Given the description of an element on the screen output the (x, y) to click on. 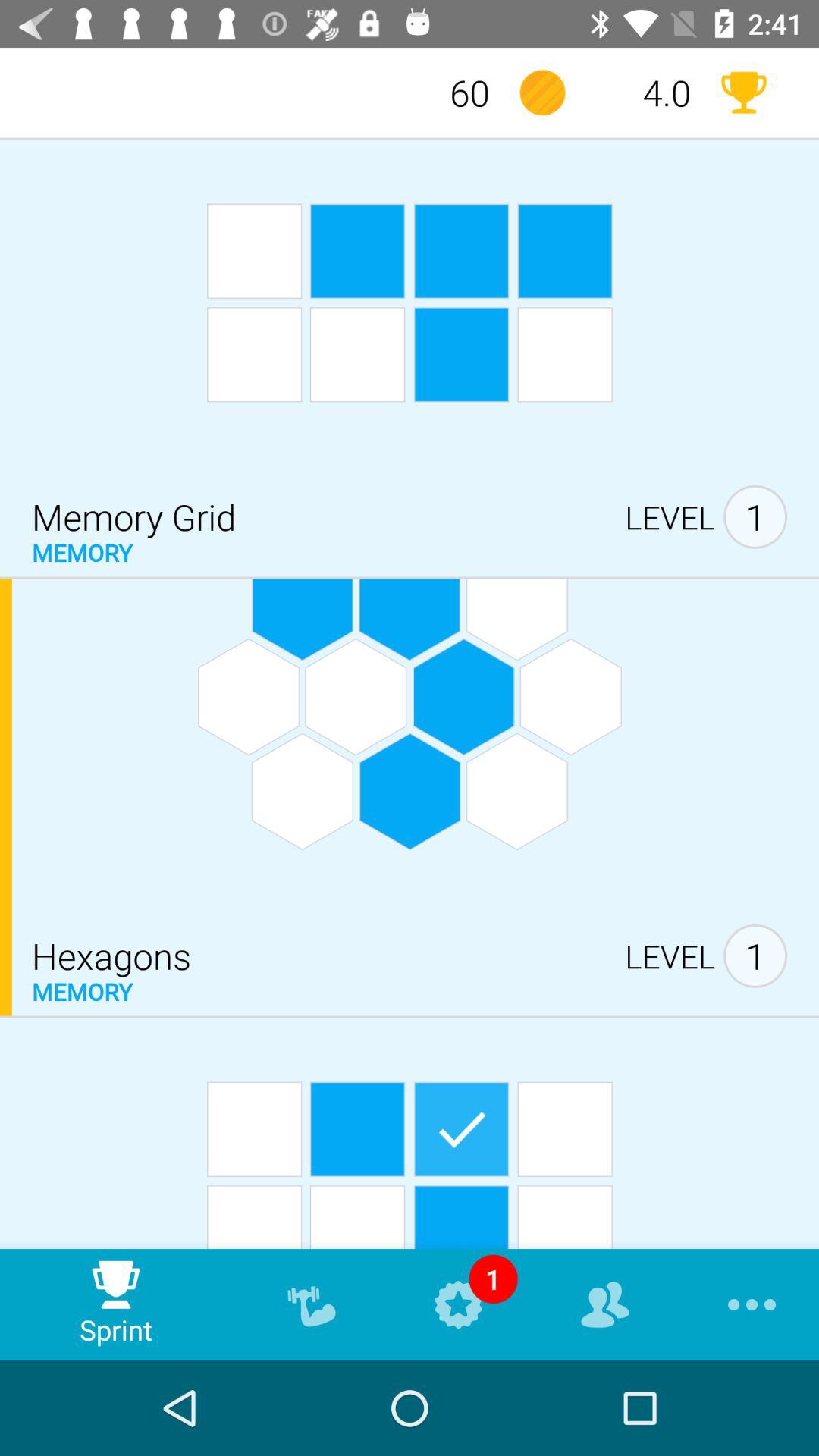
open the item to the left of the 4.0 item (542, 92)
